Given the description of an element on the screen output the (x, y) to click on. 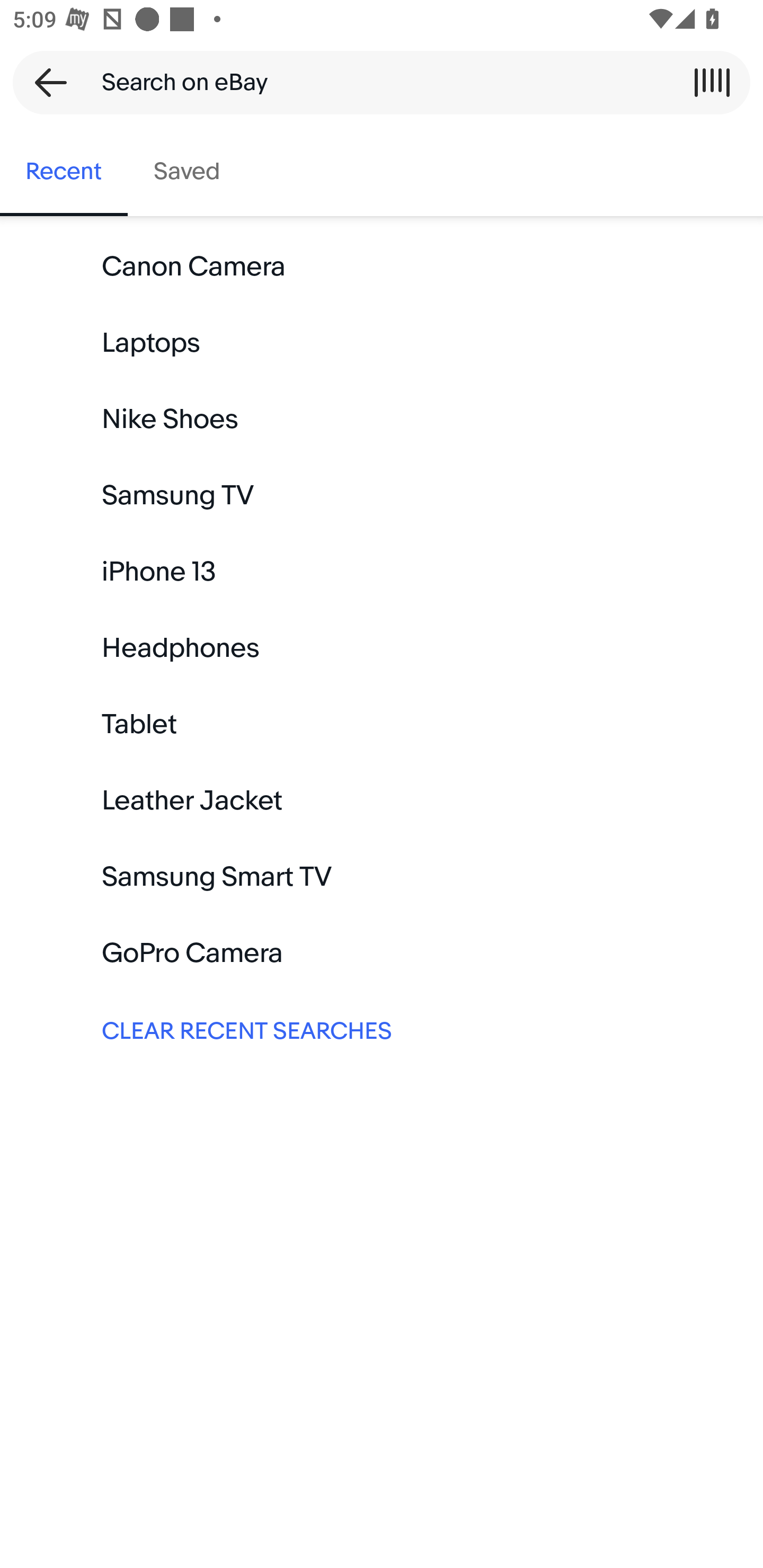
Back (44, 82)
Scan a barcode (711, 82)
Search on eBay (375, 82)
Saved, tab 2 of 2 Saved (186, 171)
Canon Camera Keyword search Canon Camera: (381, 266)
Laptops Keyword search Laptops: (381, 343)
Nike Shoes Keyword search Nike Shoes: (381, 419)
Samsung TV Keyword search Samsung TV: (381, 495)
iPhone 13 Keyword search iPhone 13: (381, 571)
Headphones Keyword search Headphones: (381, 647)
Tablet Keyword search Tablet: (381, 724)
Leather Jacket Keyword search Leather Jacket: (381, 800)
Samsung Smart TV Keyword search Samsung Smart TV: (381, 876)
GoPro Camera Keyword search GoPro Camera: (381, 952)
CLEAR RECENT SEARCHES (381, 1028)
